Given the description of an element on the screen output the (x, y) to click on. 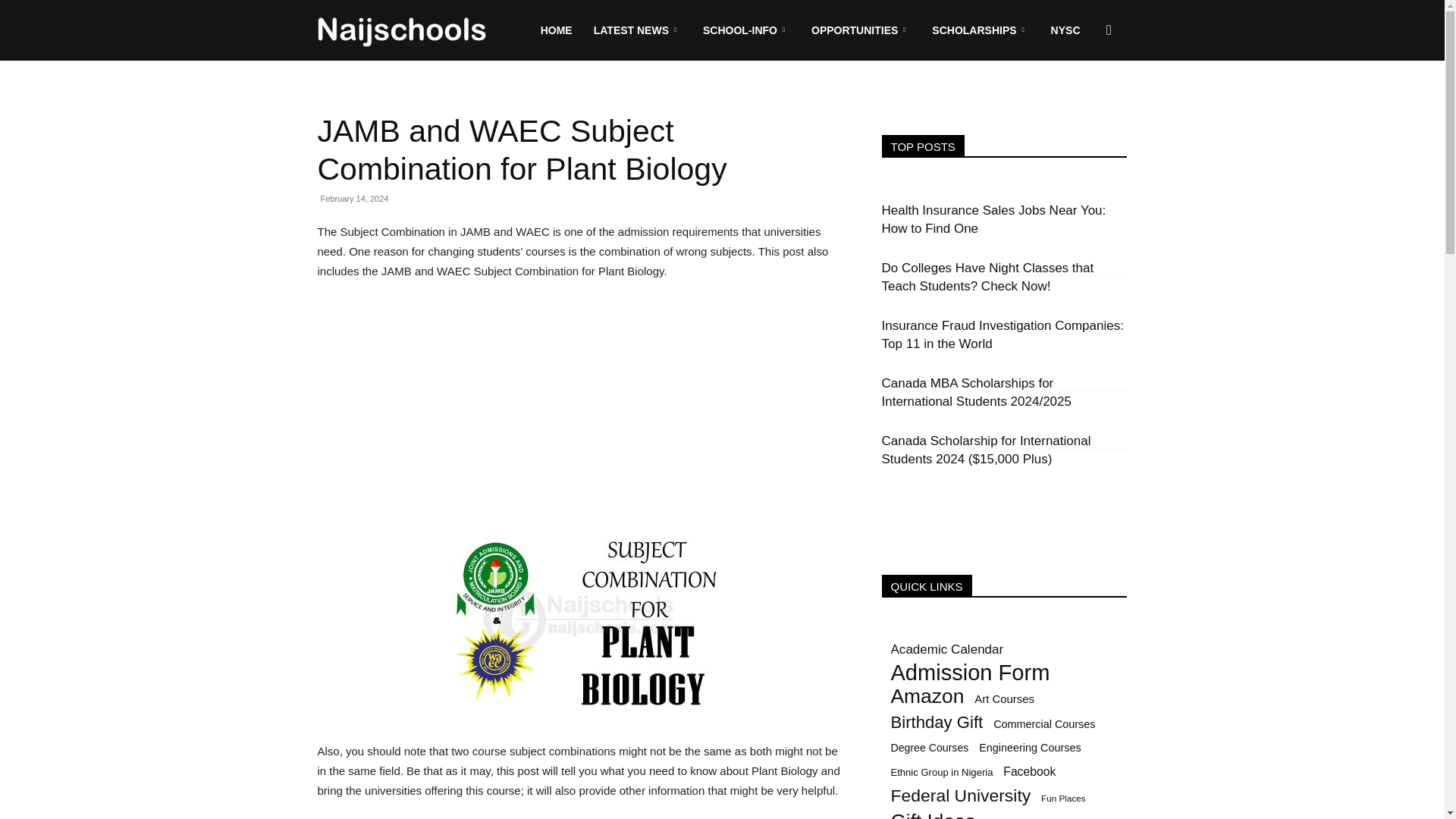
Health Insurance Sales Jobs Near You: How to Find One (992, 219)
Insurance Fraud Investigation Companies: Top 11 in the World (1001, 334)
LATEST NEWS (638, 30)
HOME (556, 30)
Advertisement (580, 407)
Search (1085, 102)
SCHOOL-INFO (746, 30)
NAIJSCHOOLS (401, 30)
